Given the description of an element on the screen output the (x, y) to click on. 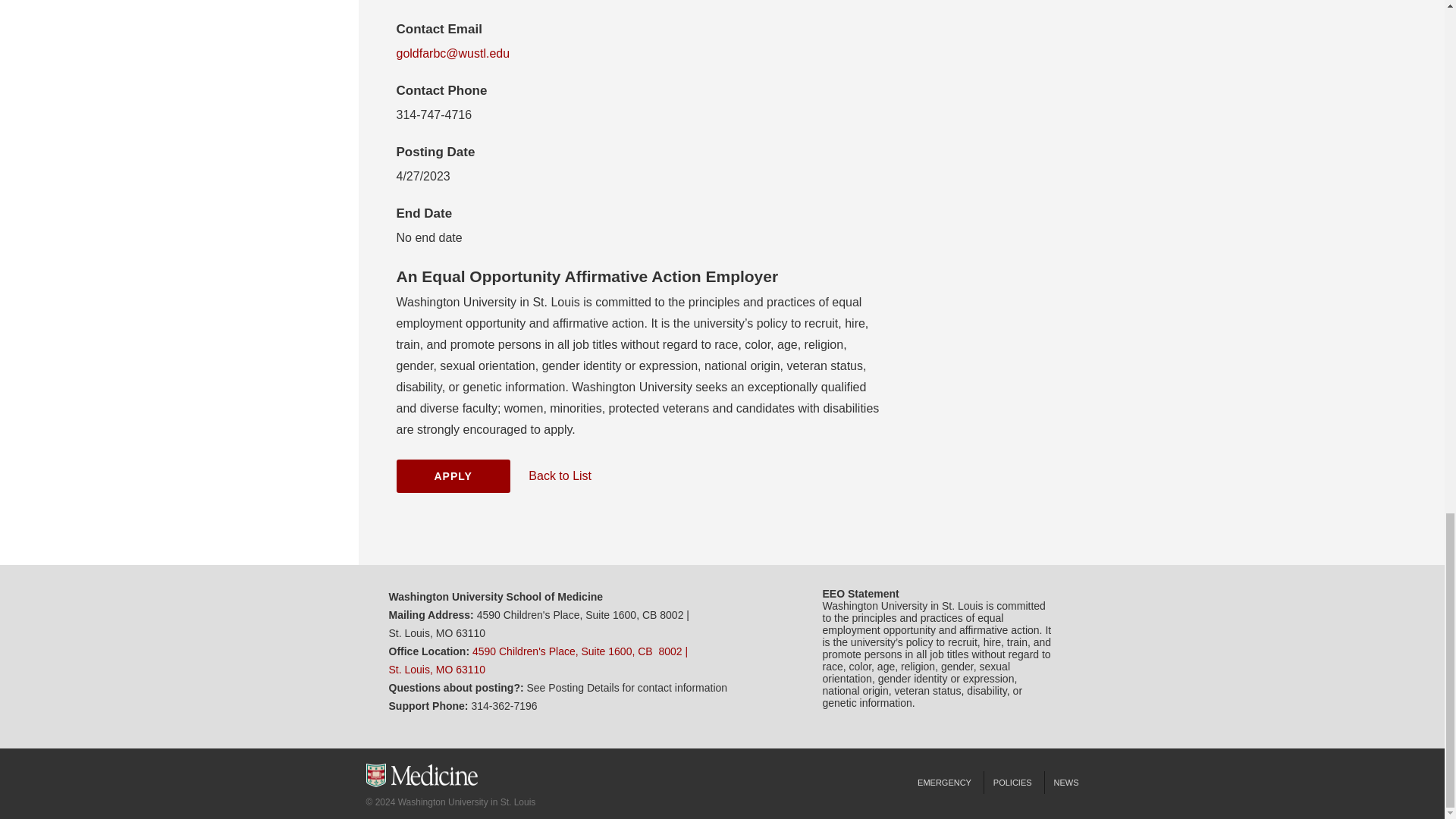
POLICIES (1012, 782)
Map (537, 660)
APPLY (452, 476)
NEWS (1060, 782)
EMERGENCY (943, 782)
Back to List (559, 475)
